Given the description of an element on the screen output the (x, y) to click on. 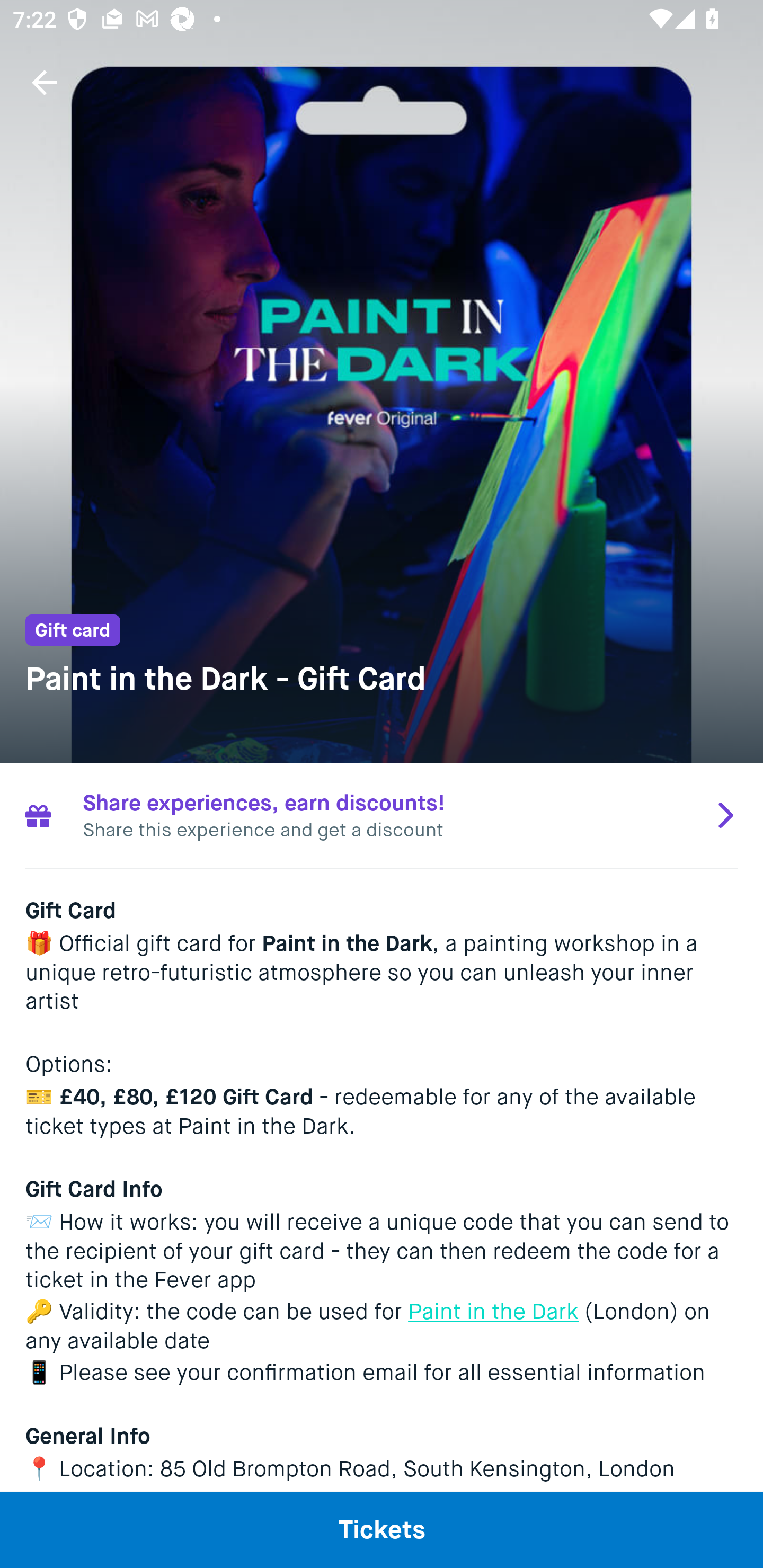
Navigate up (44, 82)
Tickets (381, 1529)
